Given the description of an element on the screen output the (x, y) to click on. 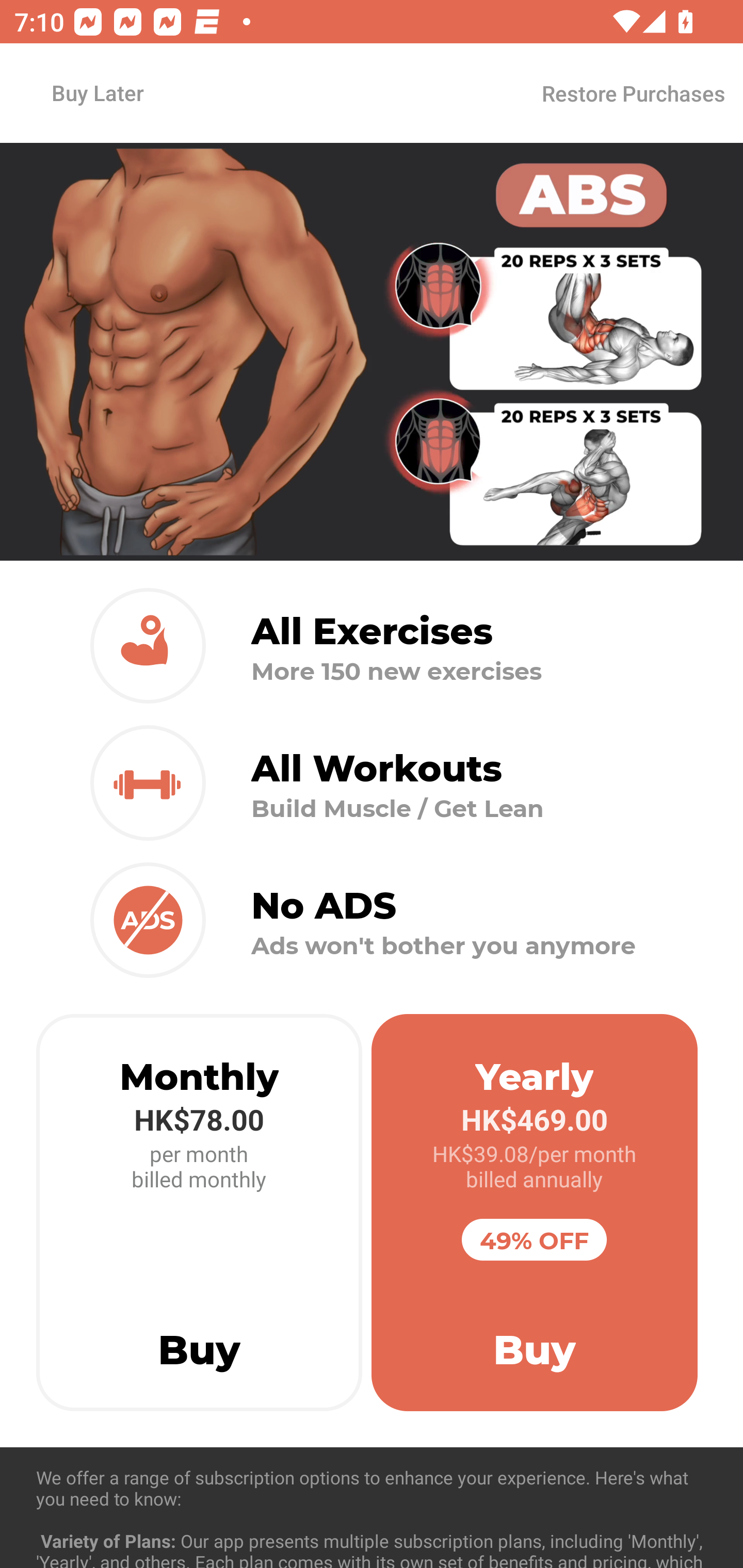
Restore Purchases (632, 92)
Buy Later (96, 92)
Monthly HK$78.00 per month
billed monthly Buy (199, 1212)
